Given the description of an element on the screen output the (x, y) to click on. 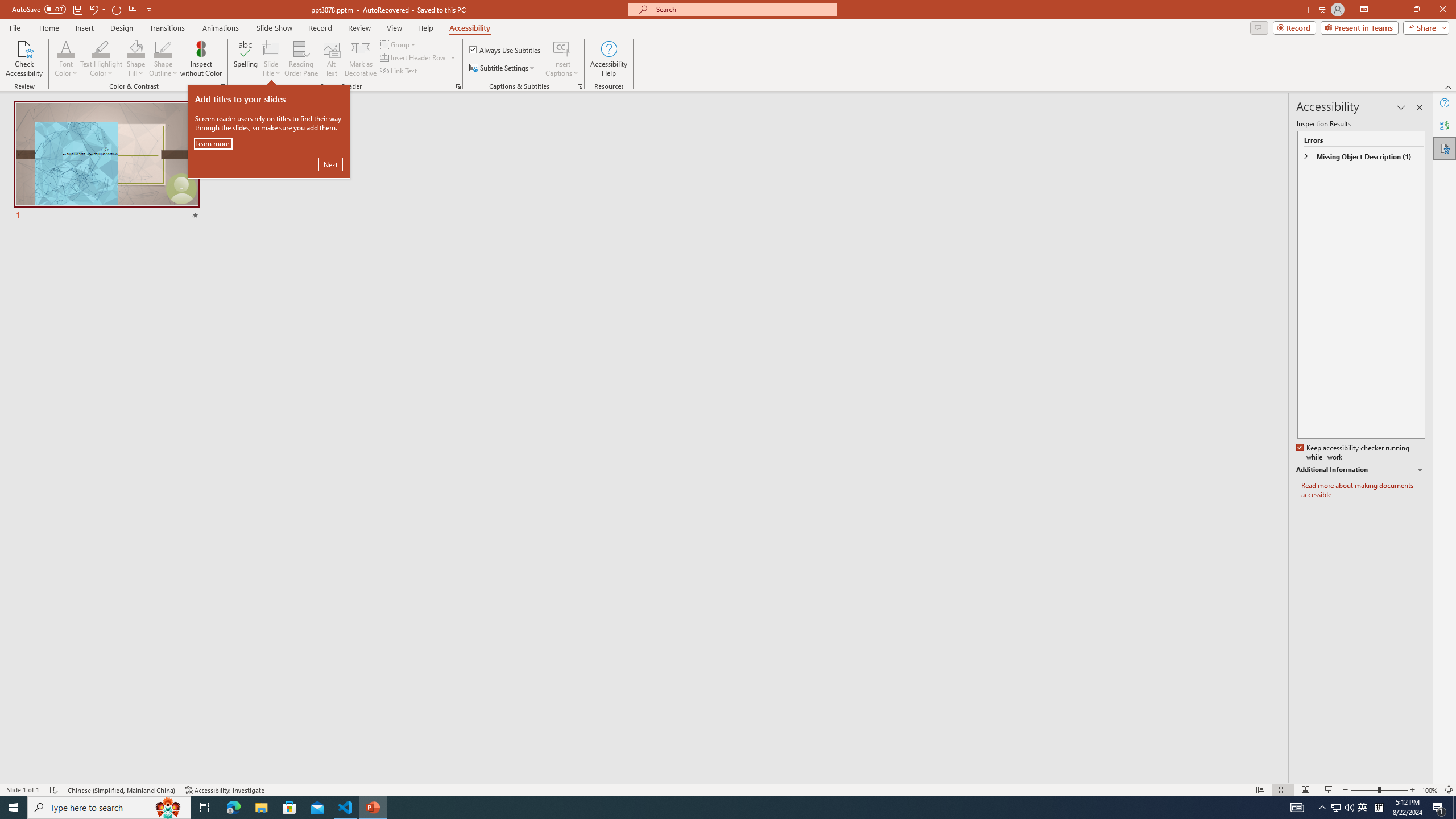
Insert Captions (561, 58)
Screen Reader (458, 85)
Reading Order Pane (301, 58)
